Given the description of an element on the screen output the (x, y) to click on. 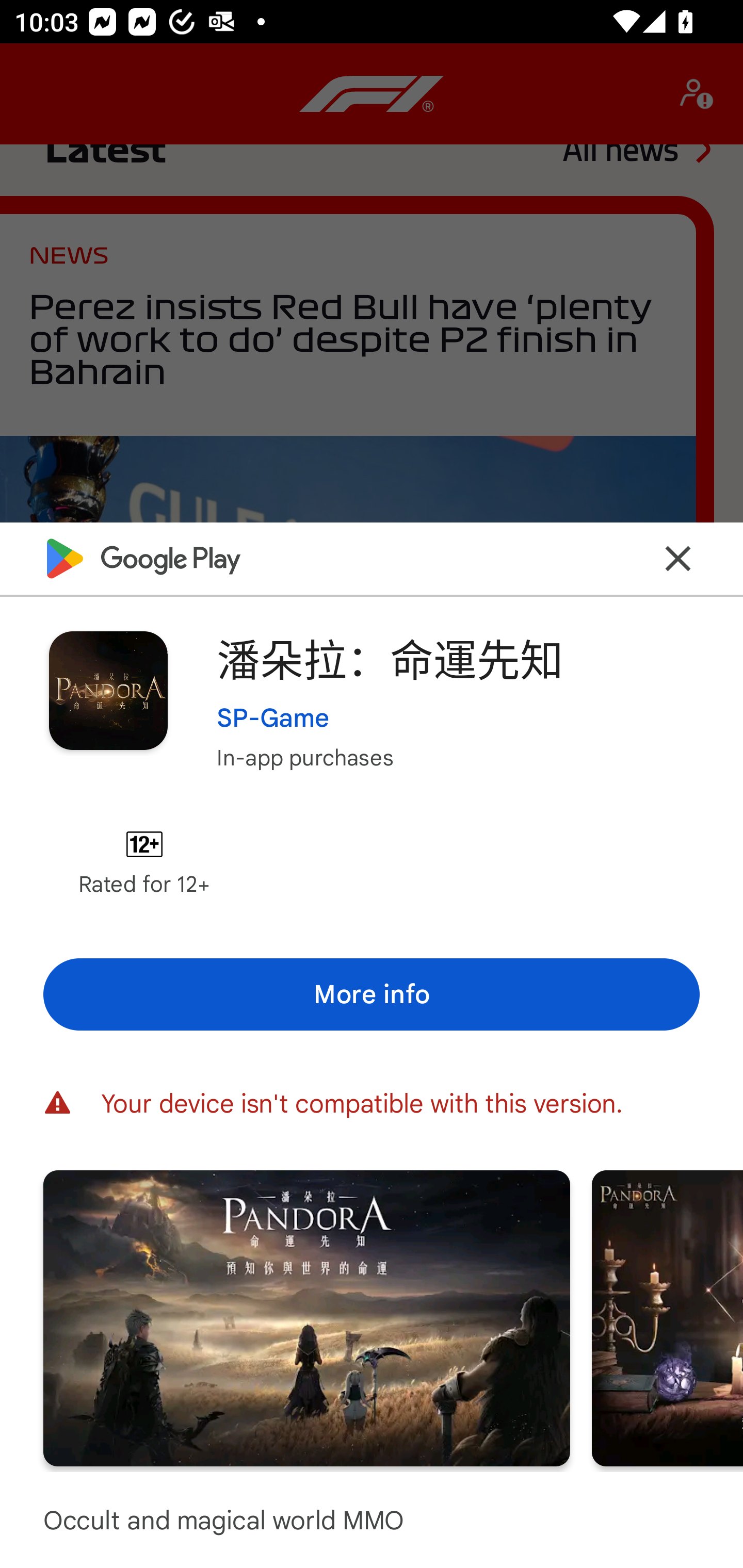
Close (677, 558)
Image of app or game icon for 潘朵拉：命運先知 (108, 690)
SP-Game (272, 716)
More info (371, 994)
Screenshot "1" of "6" (306, 1317)
